Given the description of an element on the screen output the (x, y) to click on. 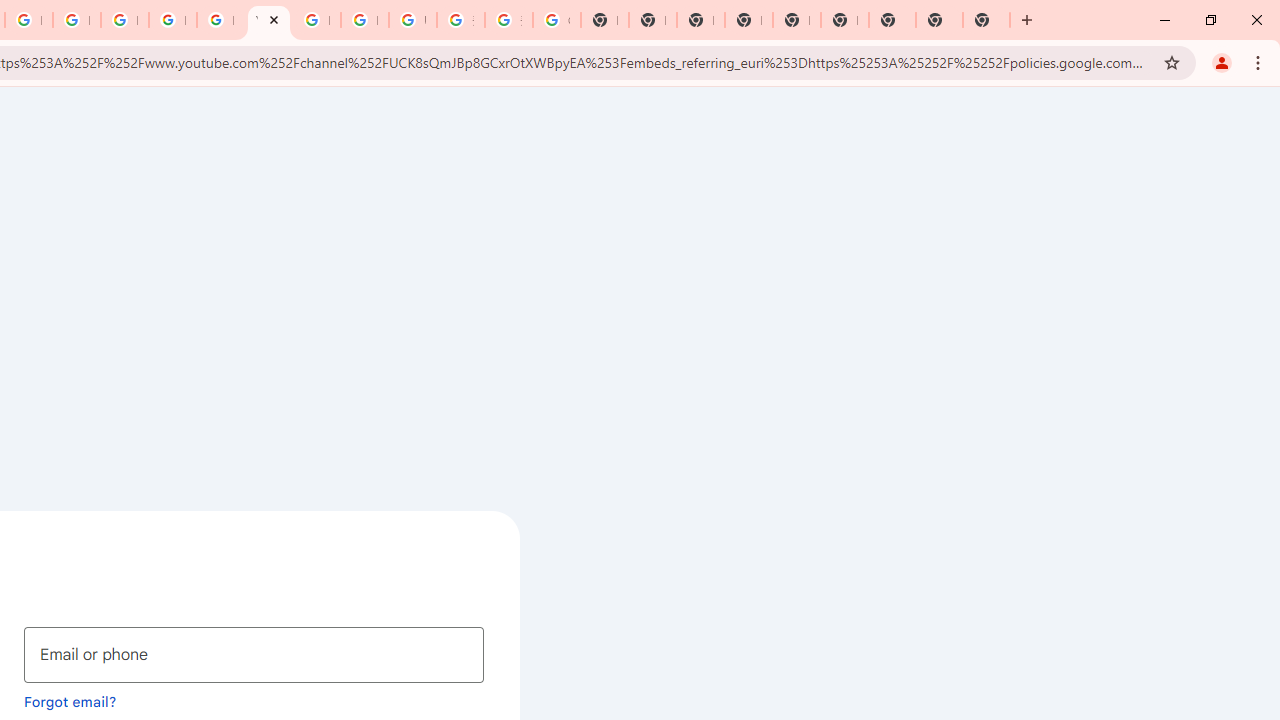
Forgot email? (70, 701)
New Tab (985, 20)
YouTube (268, 20)
New Tab (748, 20)
